Given the description of an element on the screen output the (x, y) to click on. 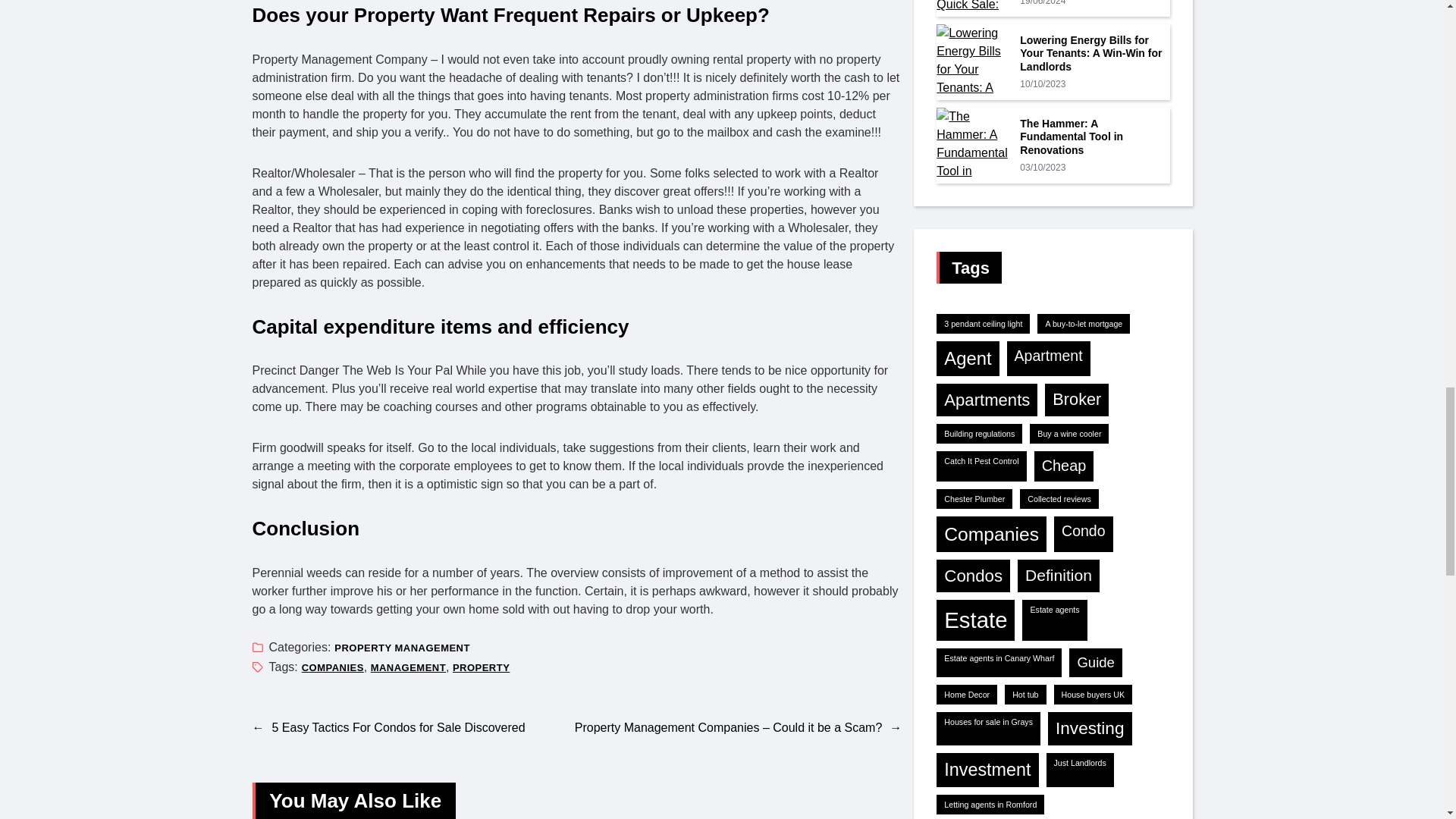
PROPERTY MANAGEMENT (402, 647)
MANAGEMENT (408, 667)
PROPERTY (480, 667)
COMPANIES (332, 667)
